Given the description of an element on the screen output the (x, y) to click on. 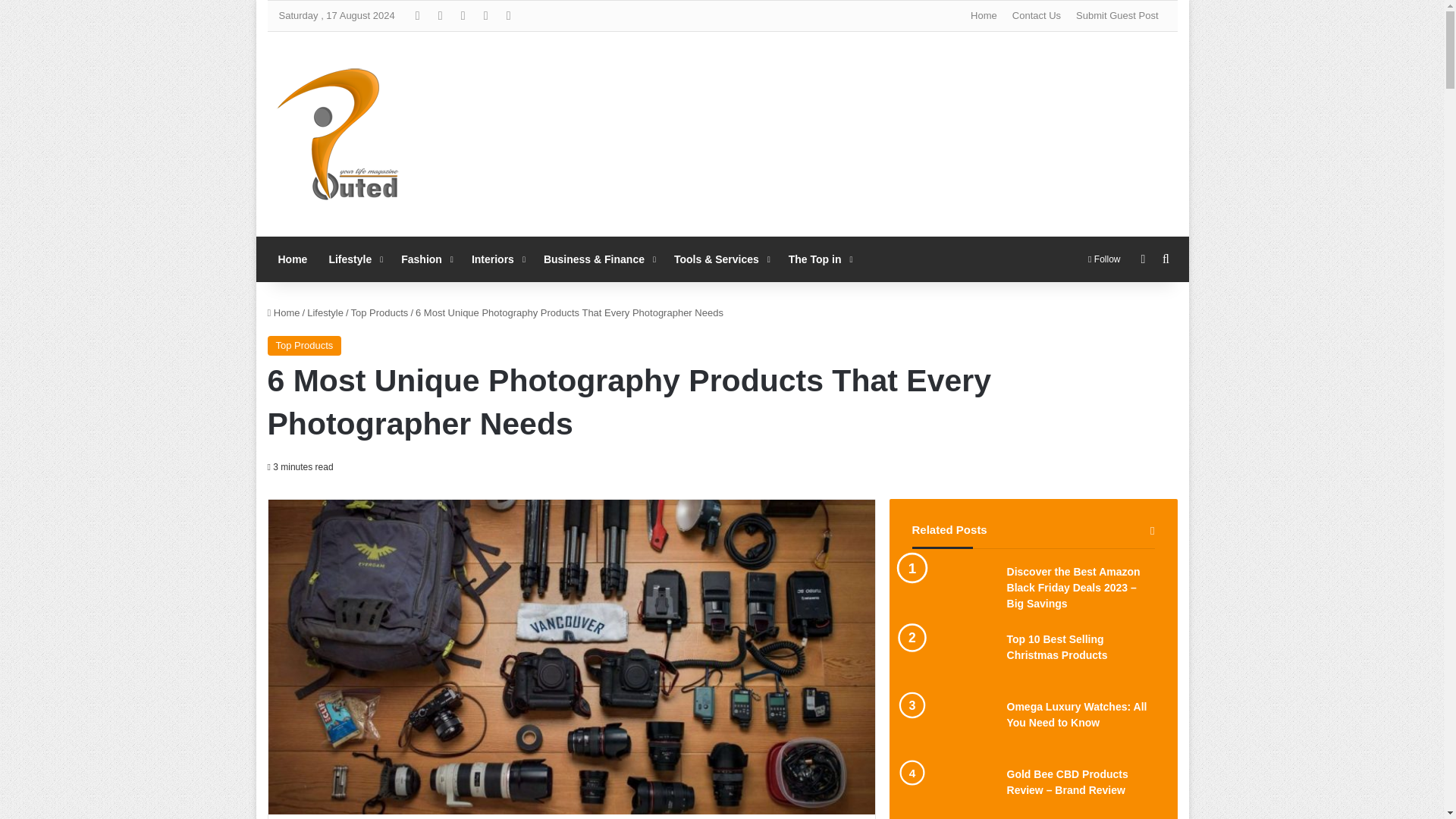
Contact Us (1036, 15)
Home (291, 258)
Pouted Magazine (338, 134)
Fashion (425, 258)
Submit Guest Post (1117, 15)
Home (983, 15)
Lifestyle (353, 258)
Interiors (496, 258)
